Given the description of an element on the screen output the (x, y) to click on. 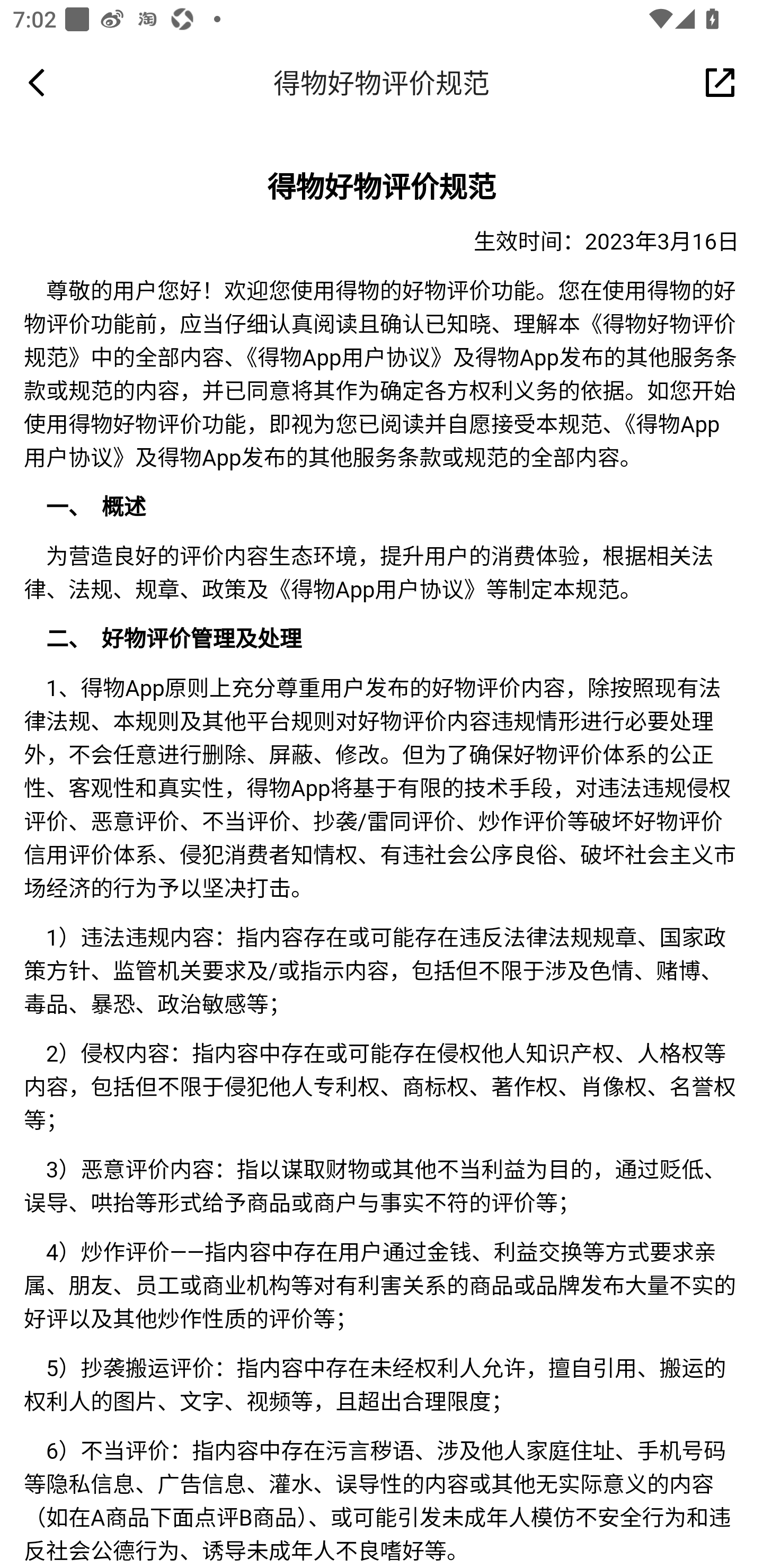
Navigate up (36, 82)
